Given the description of an element on the screen output the (x, y) to click on. 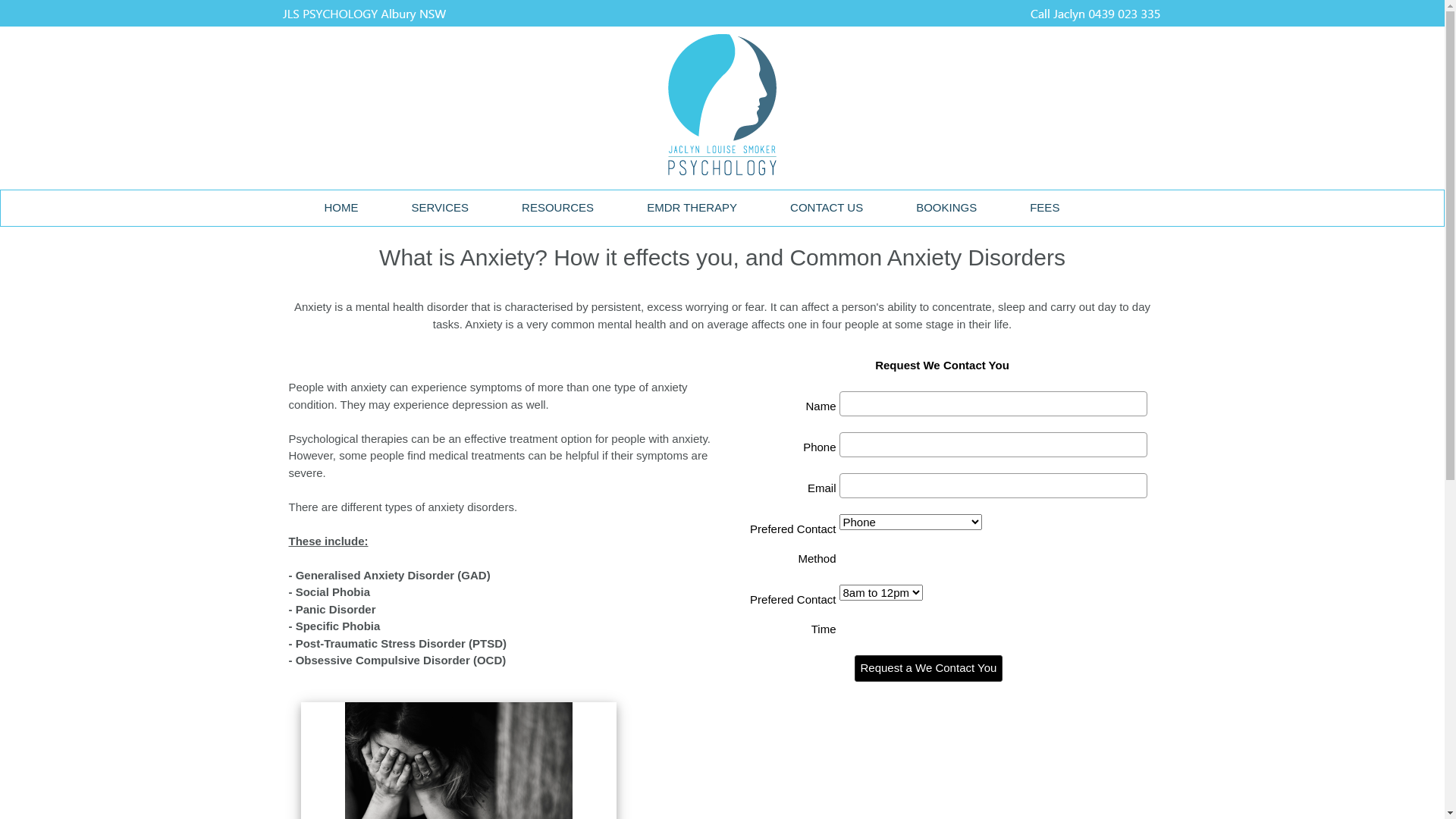
EMDR THERAPY Element type: text (691, 207)
FEES Element type: text (1044, 207)
Request a We Contact You Element type: text (927, 668)
SERVICES Element type: text (440, 207)
BOOKINGS Element type: text (946, 207)
CONTACT US Element type: text (826, 207)
RESOURCES Element type: text (557, 207)
HOME Element type: text (340, 207)
